Given the description of an element on the screen output the (x, y) to click on. 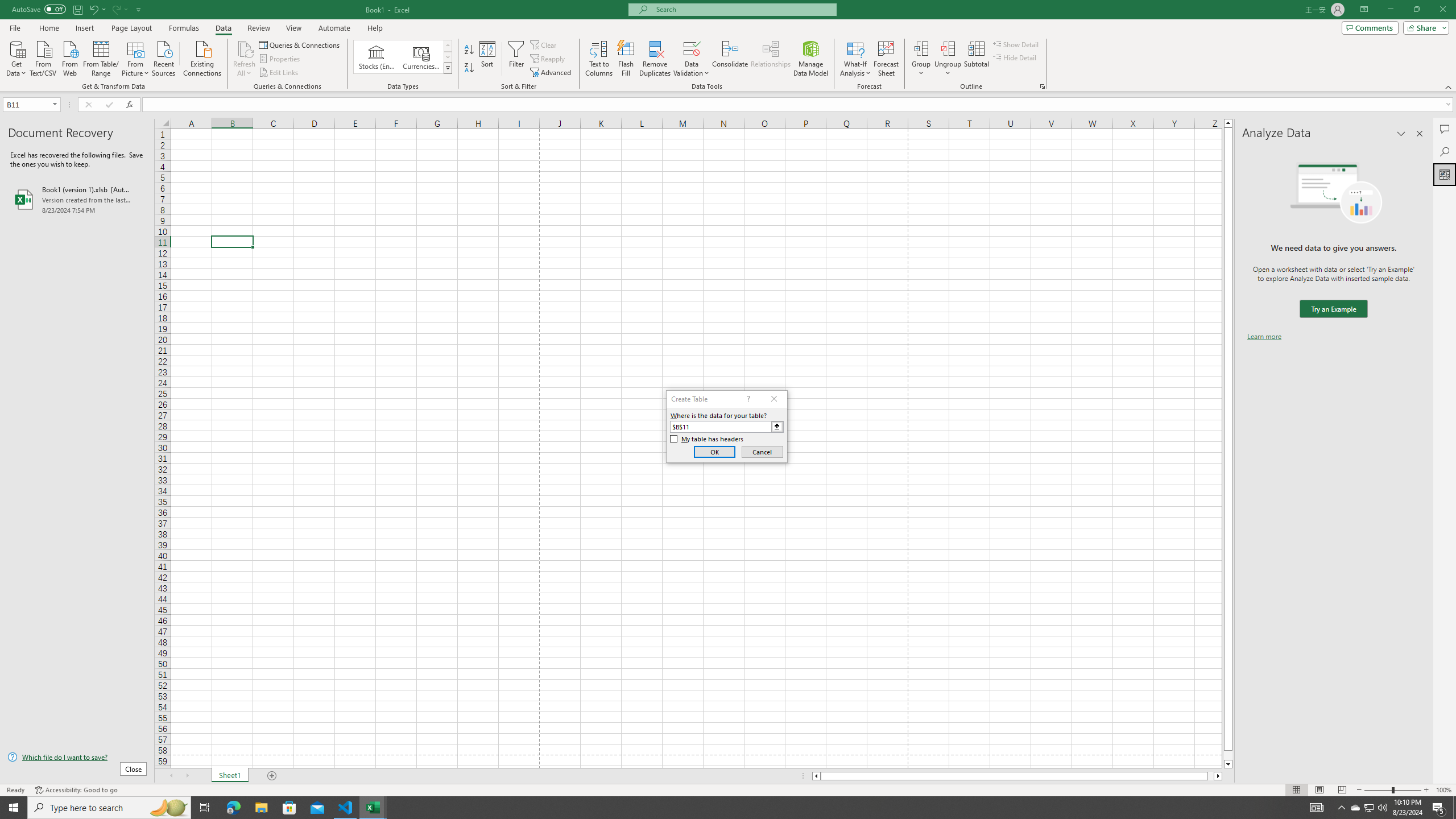
Restore Down (1416, 9)
Properties (280, 58)
Formula Bar (799, 104)
Column right (1218, 775)
Book1 (version 1).xlsb  [AutoRecovered] (77, 199)
From Text/CSV (43, 57)
Task Pane Options (1400, 133)
More Options (947, 68)
We need data to give you answers. Try an Example (1333, 308)
Customize Quick Access Toolbar (139, 9)
Open (54, 104)
Zoom In (1426, 790)
Redo (119, 9)
Currencies (English) (420, 56)
